Given the description of an element on the screen output the (x, y) to click on. 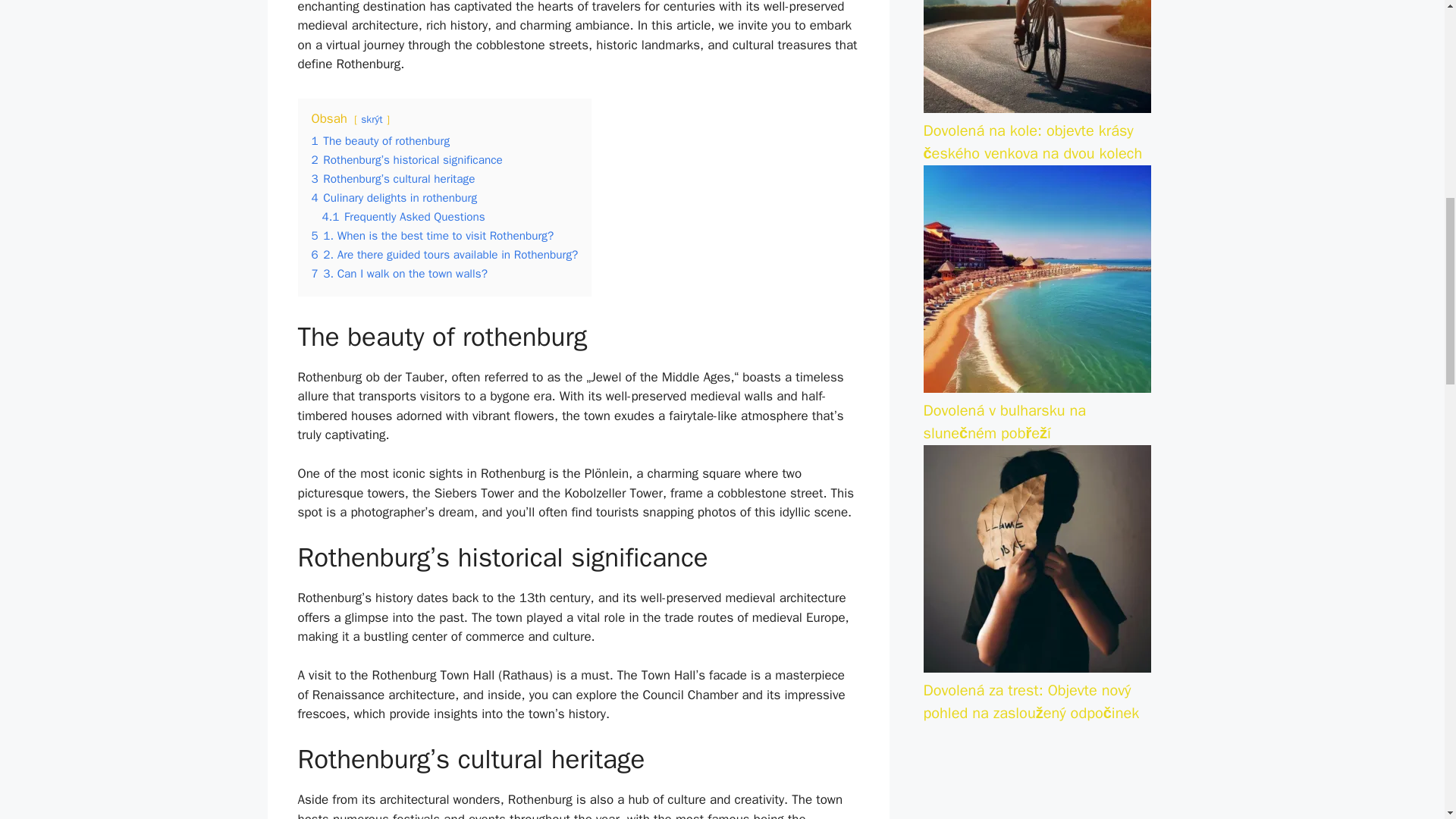
7 3. Can I walk on the town walls? (398, 273)
6 2. Are there guided tours available in Rothenburg? (444, 254)
4.1 Frequently Asked Questions (402, 216)
4 Culinary delights in rothenburg (394, 197)
1 The beauty of rothenburg (380, 140)
5 1. When is the best time to visit Rothenburg? (432, 235)
